Given the description of an element on the screen output the (x, y) to click on. 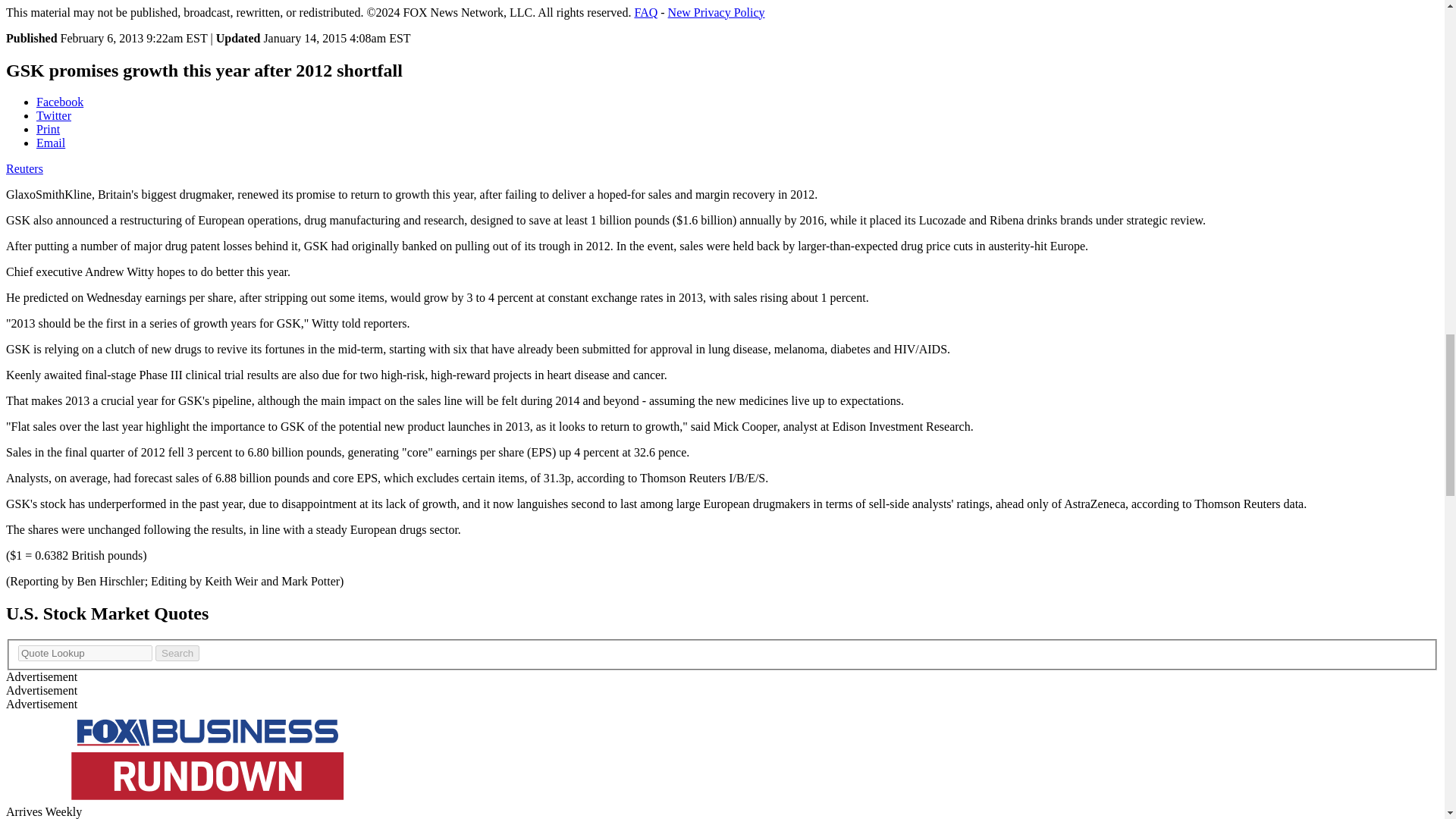
Search (177, 652)
Search (177, 652)
